Given the description of an element on the screen output the (x, y) to click on. 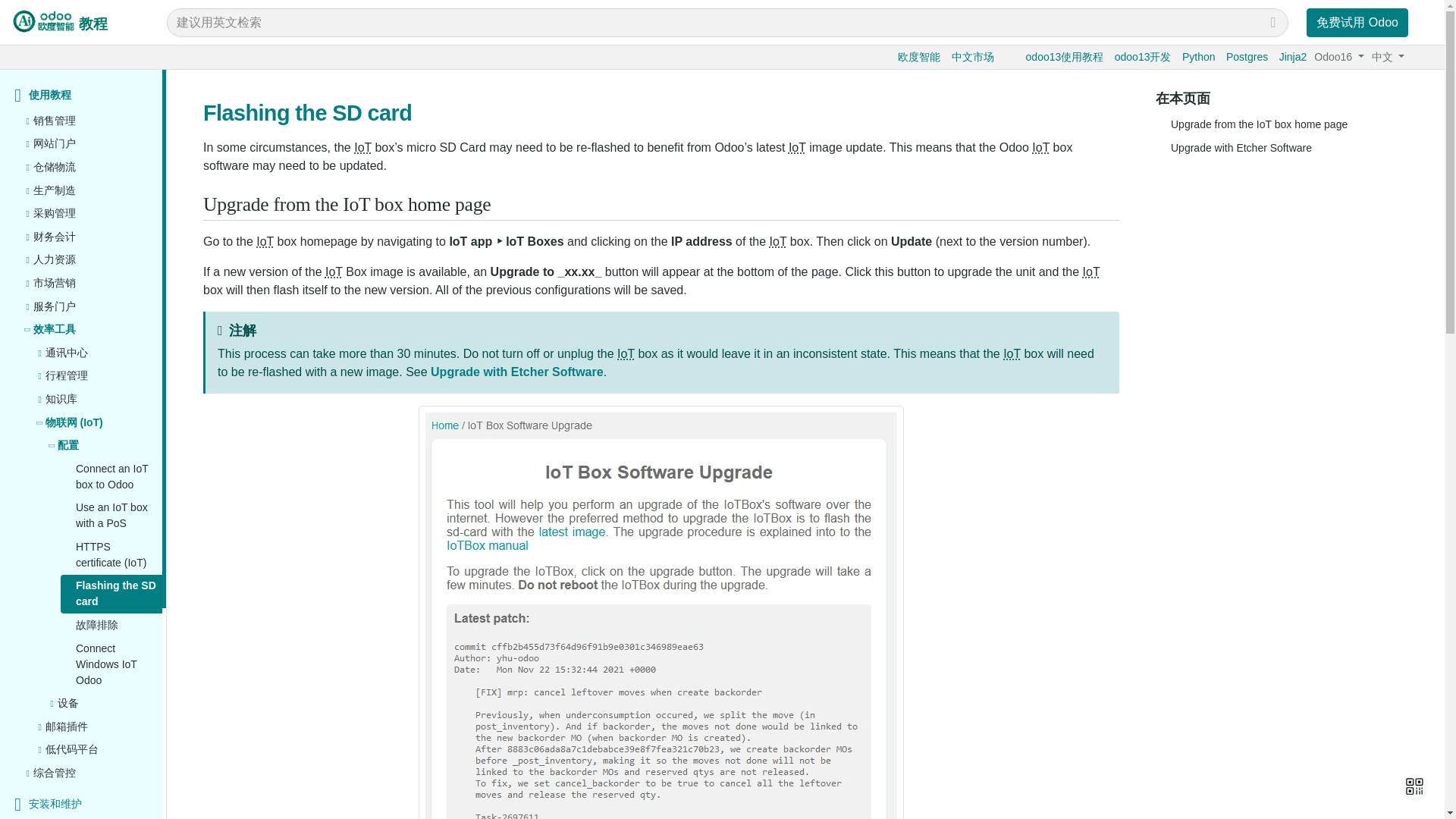
Internet of Things (333, 271)
Internet of Things (264, 241)
Internet of Things (1040, 146)
Internet of Things (778, 241)
Internet of Things (362, 146)
Internet of Things (625, 353)
Internet of Things (797, 146)
Internet of Things (1011, 353)
Internet of Things (1091, 271)
